Given the description of an element on the screen output the (x, y) to click on. 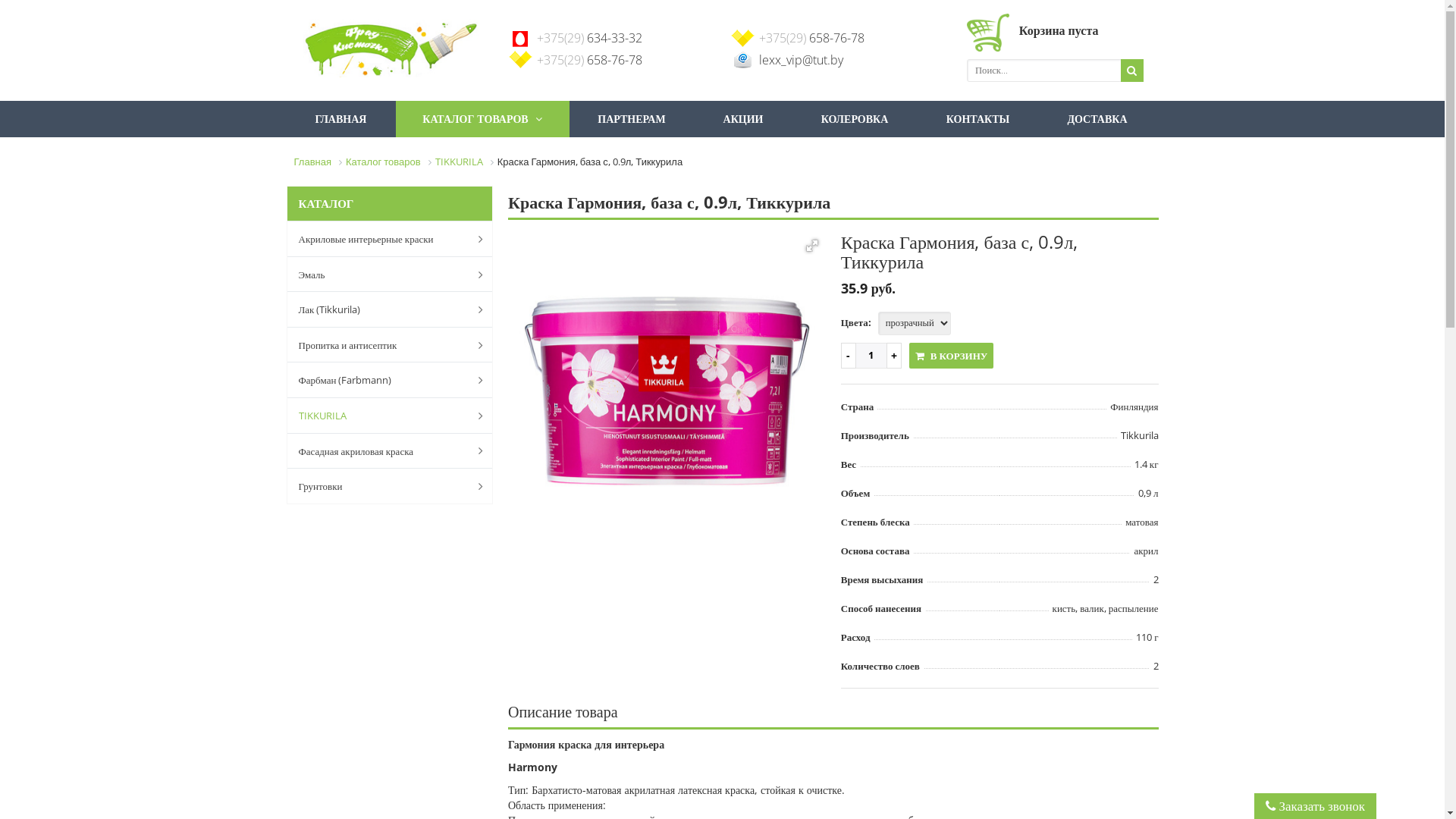
+375(29) 658-76-78 Element type: text (589, 59)
TIKKURILA Element type: text (459, 160)
TIKKURILA Element type: text (376, 415)
lexx_vip@tut.by Element type: text (800, 59)
+375(29) 634-33-32 Element type: text (589, 37)
+375(29) 658-76-78 Element type: text (810, 37)
